Given the description of an element on the screen output the (x, y) to click on. 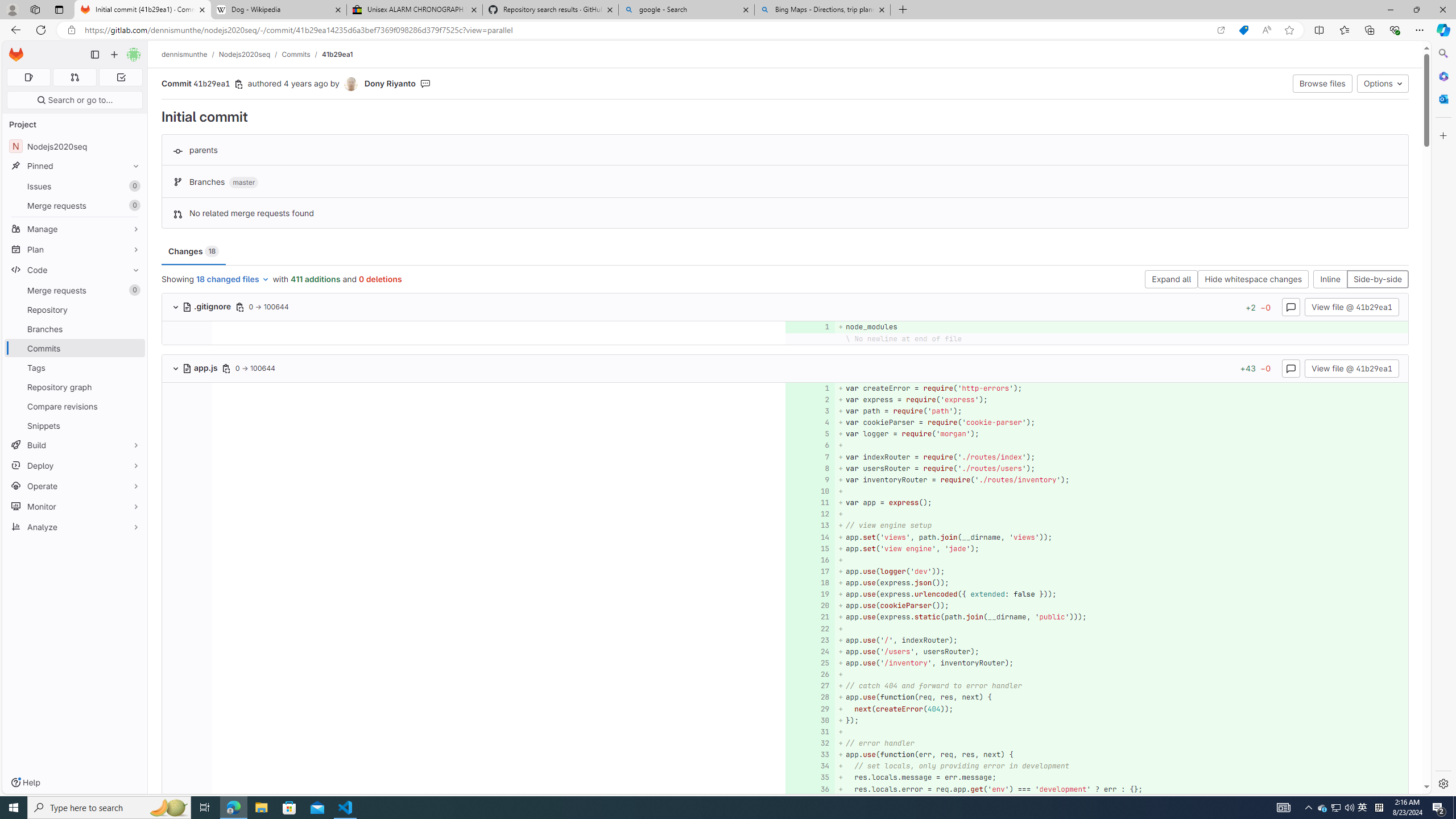
View file @ 41b29ea1 (1351, 367)
3 (808, 410)
18 changed files (233, 279)
Expand all (1171, 279)
Compare revisions (74, 406)
27 (808, 686)
16 (808, 559)
Add a comment to this line 21 (809, 617)
+ var usersRouter = require('./routes/users');  (1120, 468)
+  (1120, 731)
Snippets (74, 425)
Add a comment to this line 22 (809, 628)
